Given the description of an element on the screen output the (x, y) to click on. 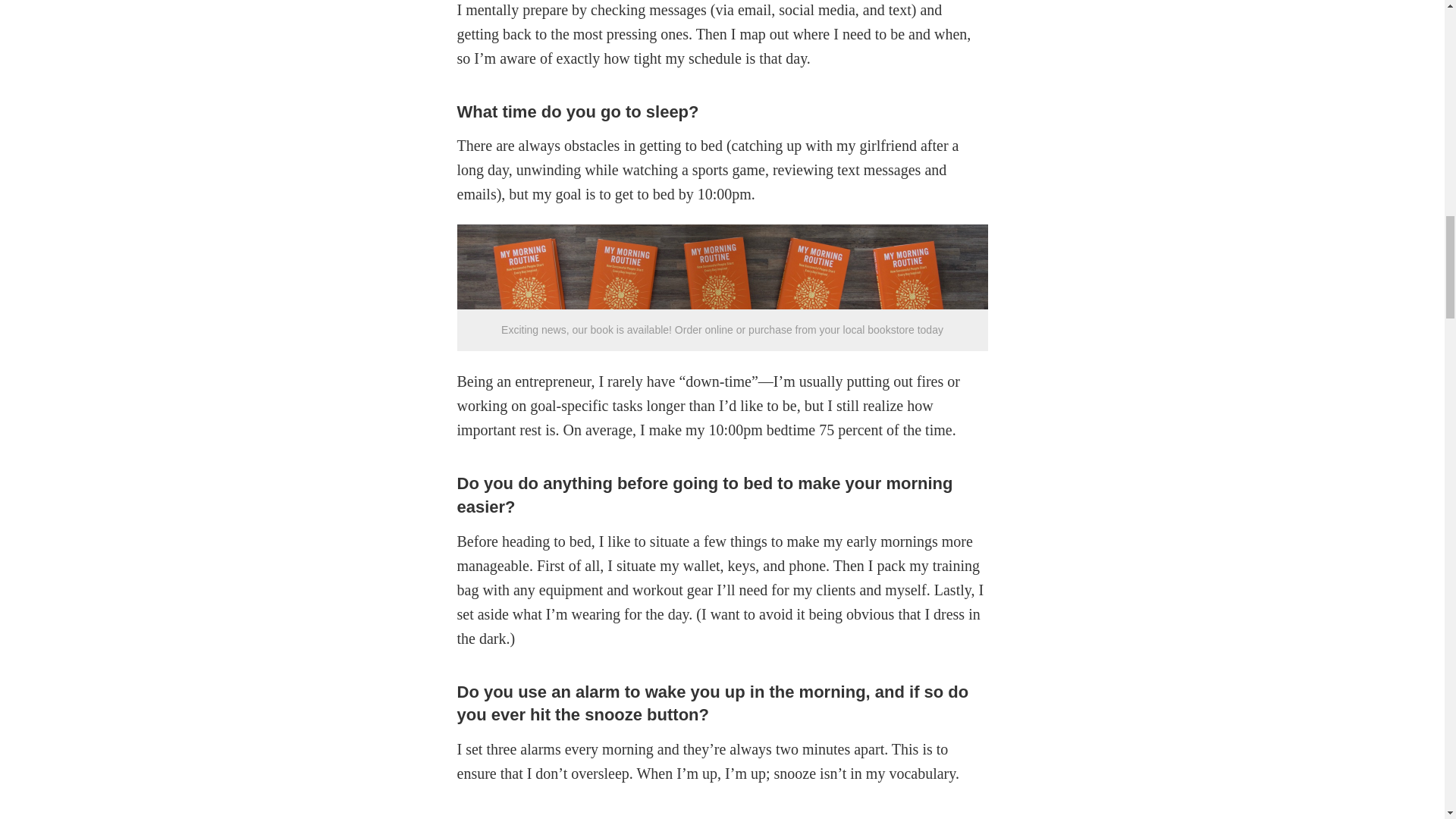
Buy My Morning Routine on Amazon.com (722, 304)
